Given the description of an element on the screen output the (x, y) to click on. 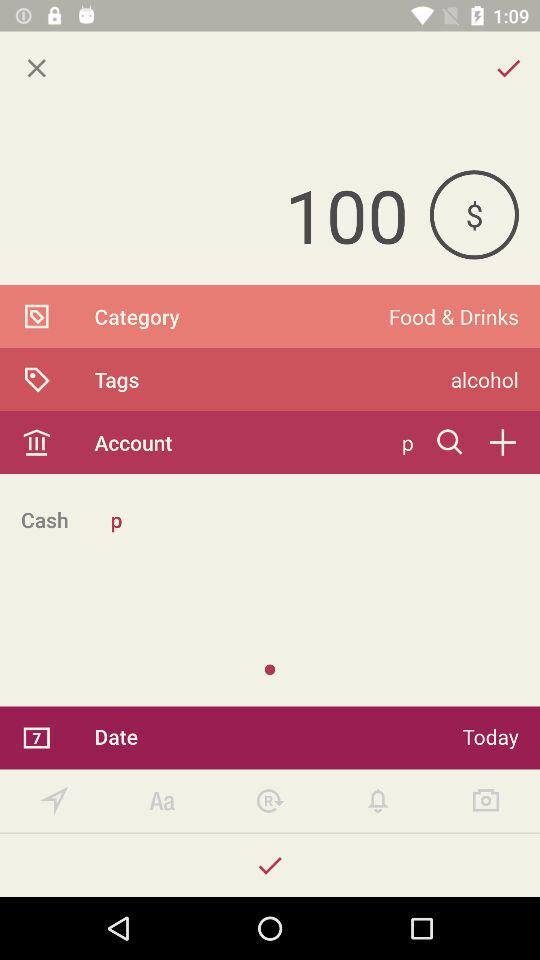
take a picture (486, 800)
